Given the description of an element on the screen output the (x, y) to click on. 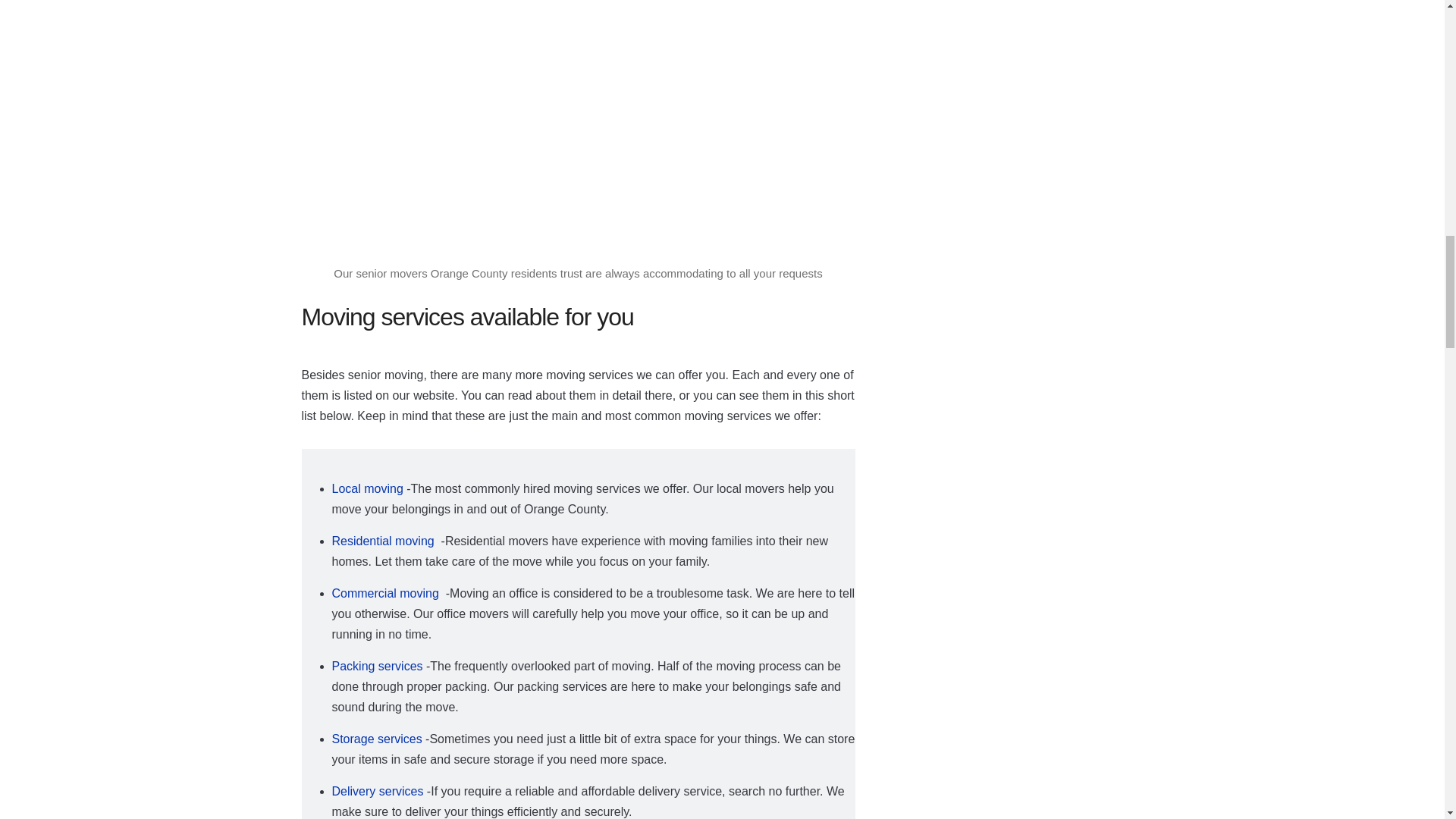
Residential moving (384, 540)
Local moving (367, 488)
Packing services (377, 666)
Commercial moving (386, 593)
Storage services (376, 738)
